Given the description of an element on the screen output the (x, y) to click on. 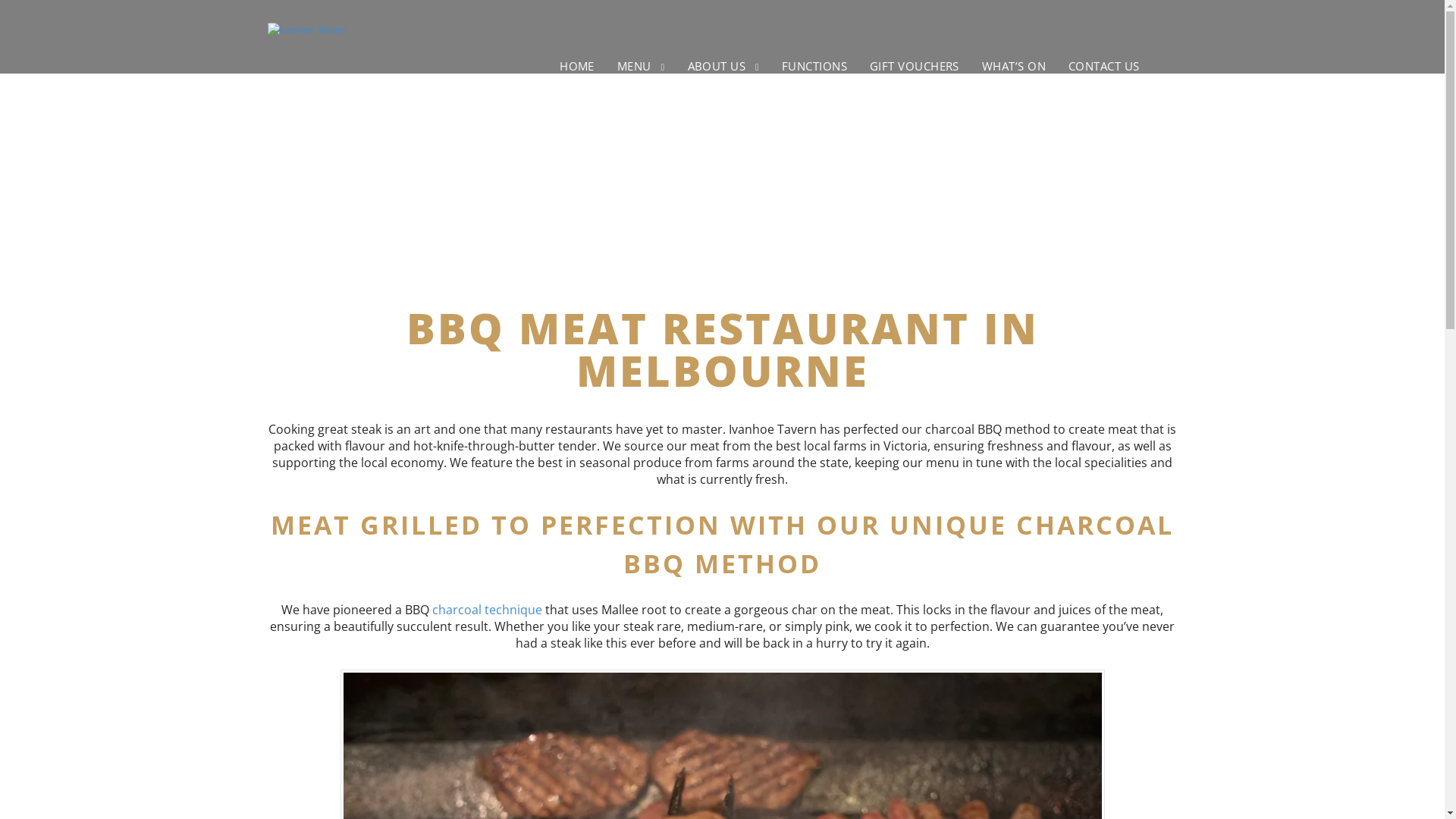
ABOUT US Element type: text (723, 65)
MENU Element type: text (640, 65)
CONTACT US Element type: text (1104, 65)
Charcoal Grill Steakhouse Element type: hover (306, 29)
charcoal technique Element type: text (487, 609)
FUNCTIONS Element type: text (814, 65)
HOME Element type: text (576, 65)
GIFT VOUCHERS Element type: text (914, 65)
